Given the description of an element on the screen output the (x, y) to click on. 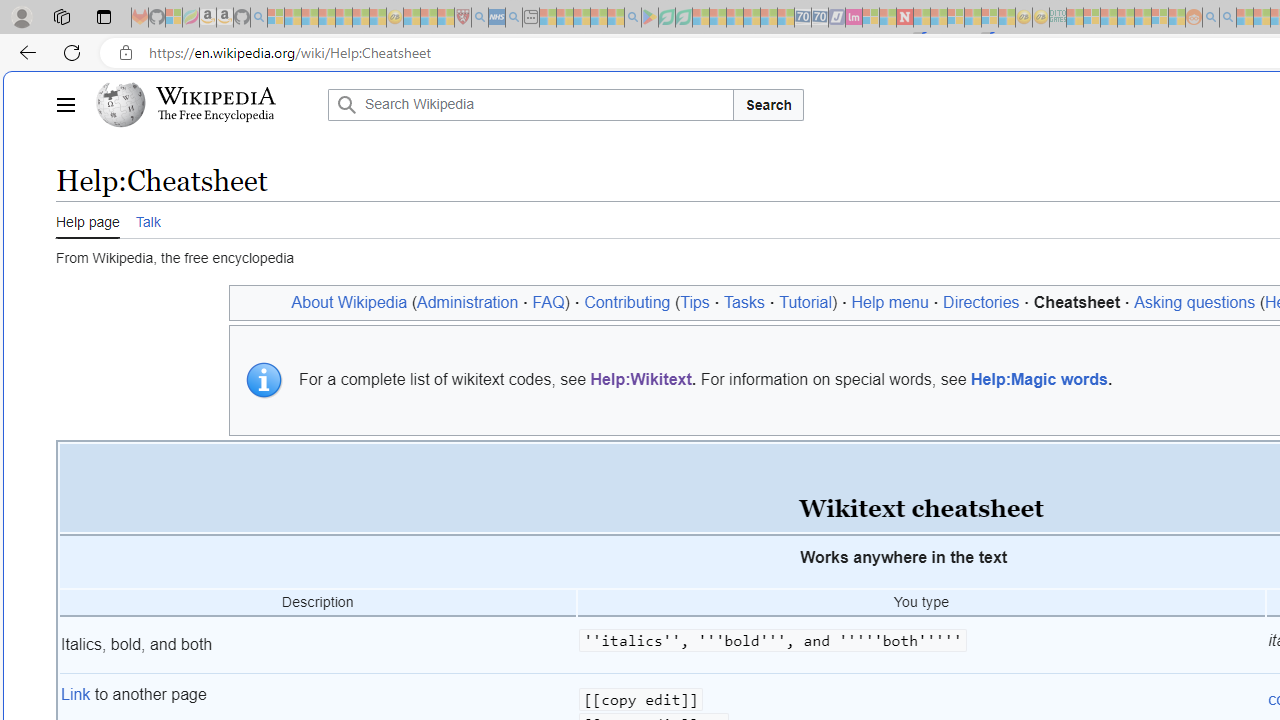
Talk (147, 219)
Talk (147, 219)
Help page (88, 219)
Local - MSN - Sleeping (445, 17)
Terms of Use Agreement - Sleeping (666, 17)
Link (75, 693)
About Wikipedia (349, 302)
Jobs - lastminute.com Investor Portal - Sleeping (853, 17)
Bluey: Let's Play! - Apps on Google Play - Sleeping (649, 17)
Administration (467, 302)
